Given the description of an element on the screen output the (x, y) to click on. 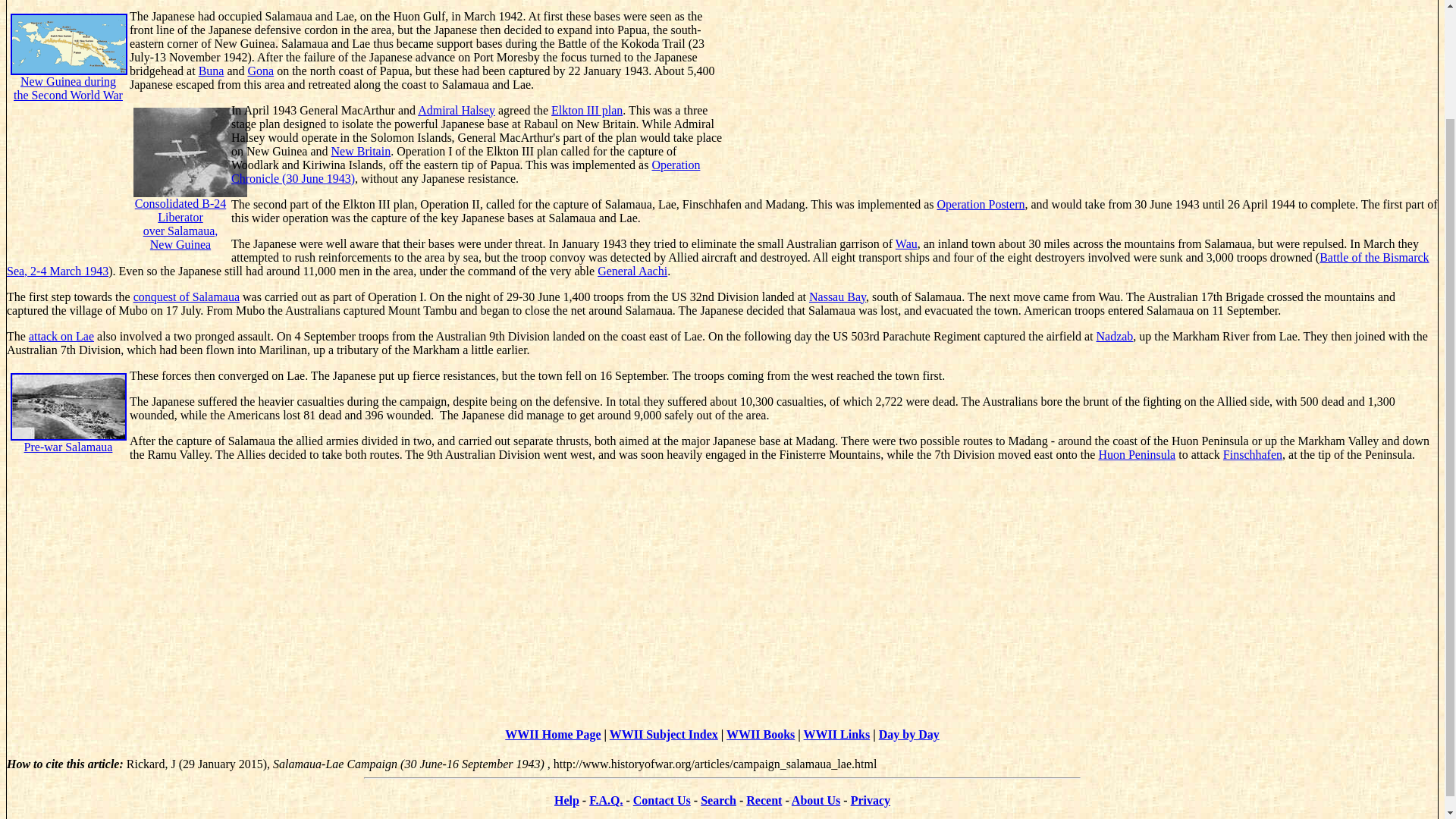
conquest of Salamaua (186, 296)
Huon Peninsula (1135, 454)
Admiral Halsey (190, 197)
Buna (456, 110)
attack on Lae (211, 70)
Battle of the Bismarck Sea, 2-4 March 1943 (61, 336)
New Britain (718, 263)
Nassau Bay (361, 151)
Elkton III plan (837, 296)
Finschhafen (587, 110)
General Aachi (69, 68)
Operation Postern (1252, 454)
Nadzab (631, 270)
